Given the description of an element on the screen output the (x, y) to click on. 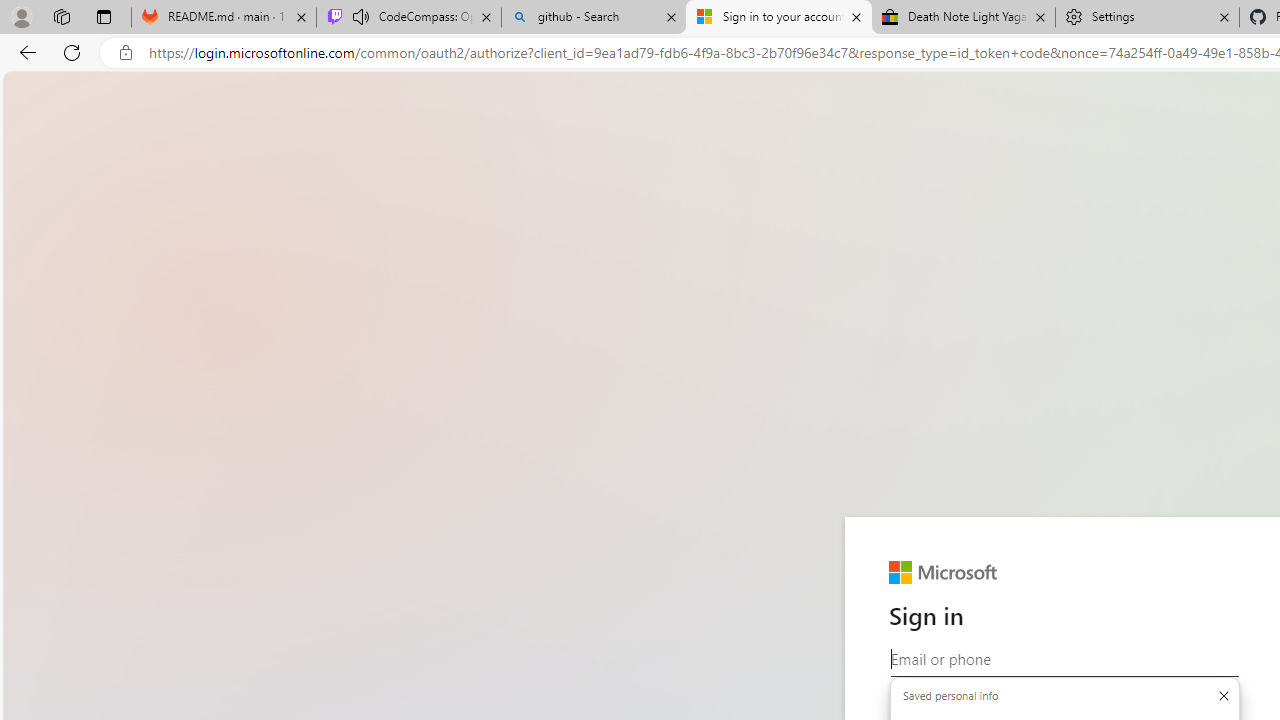
Sign in to your account (779, 17)
Mute tab (360, 16)
